Given the description of an element on the screen output the (x, y) to click on. 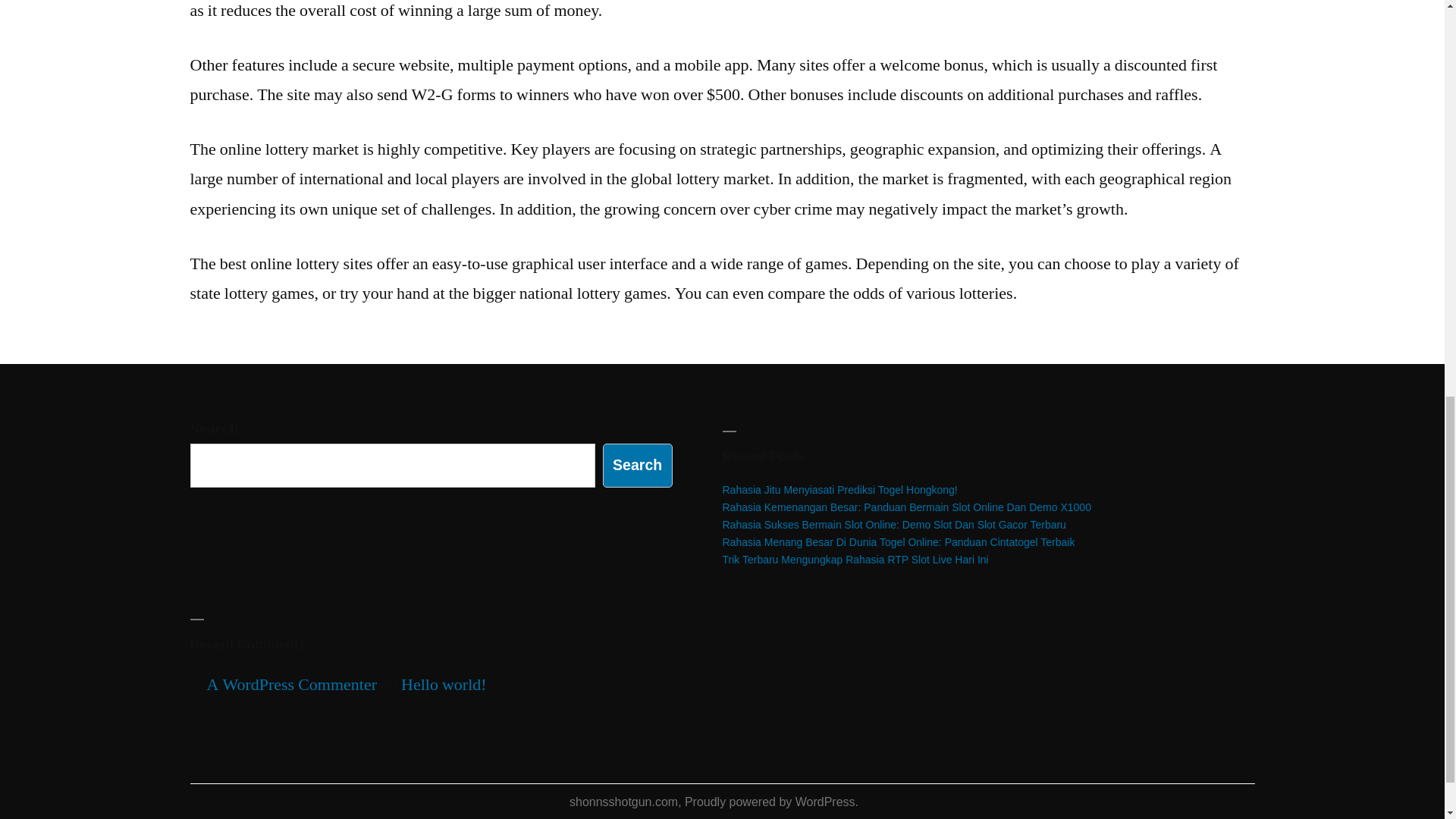
Trik Terbaru Mengungkap Rahasia RTP Slot Live Hari Ini (855, 559)
A WordPress Commenter (291, 684)
Proudly powered by WordPress. (771, 801)
Search (637, 464)
shonnsshotgun.com (623, 801)
Hello world! (443, 684)
Rahasia Jitu Menyiasati Prediksi Togel Hongkong! (839, 490)
